Given the description of an element on the screen output the (x, y) to click on. 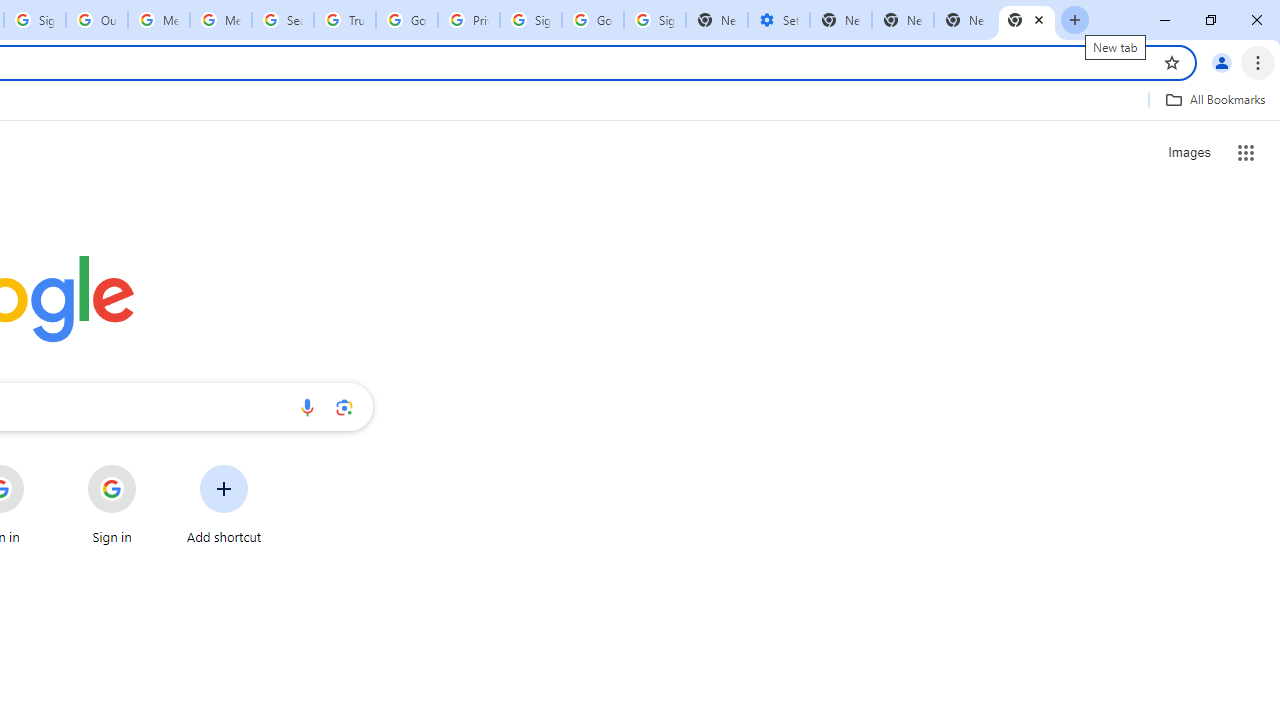
Settings - Performance (778, 20)
New Tab (964, 20)
Search our Doodle Library Collection - Google Doodles (282, 20)
New Tab (840, 20)
Search by image (344, 407)
Google Ads - Sign in (406, 20)
Search by voice (307, 407)
Google Cybersecurity Innovations - Google Safety Center (592, 20)
New Tab (1026, 20)
